Given the description of an element on the screen output the (x, y) to click on. 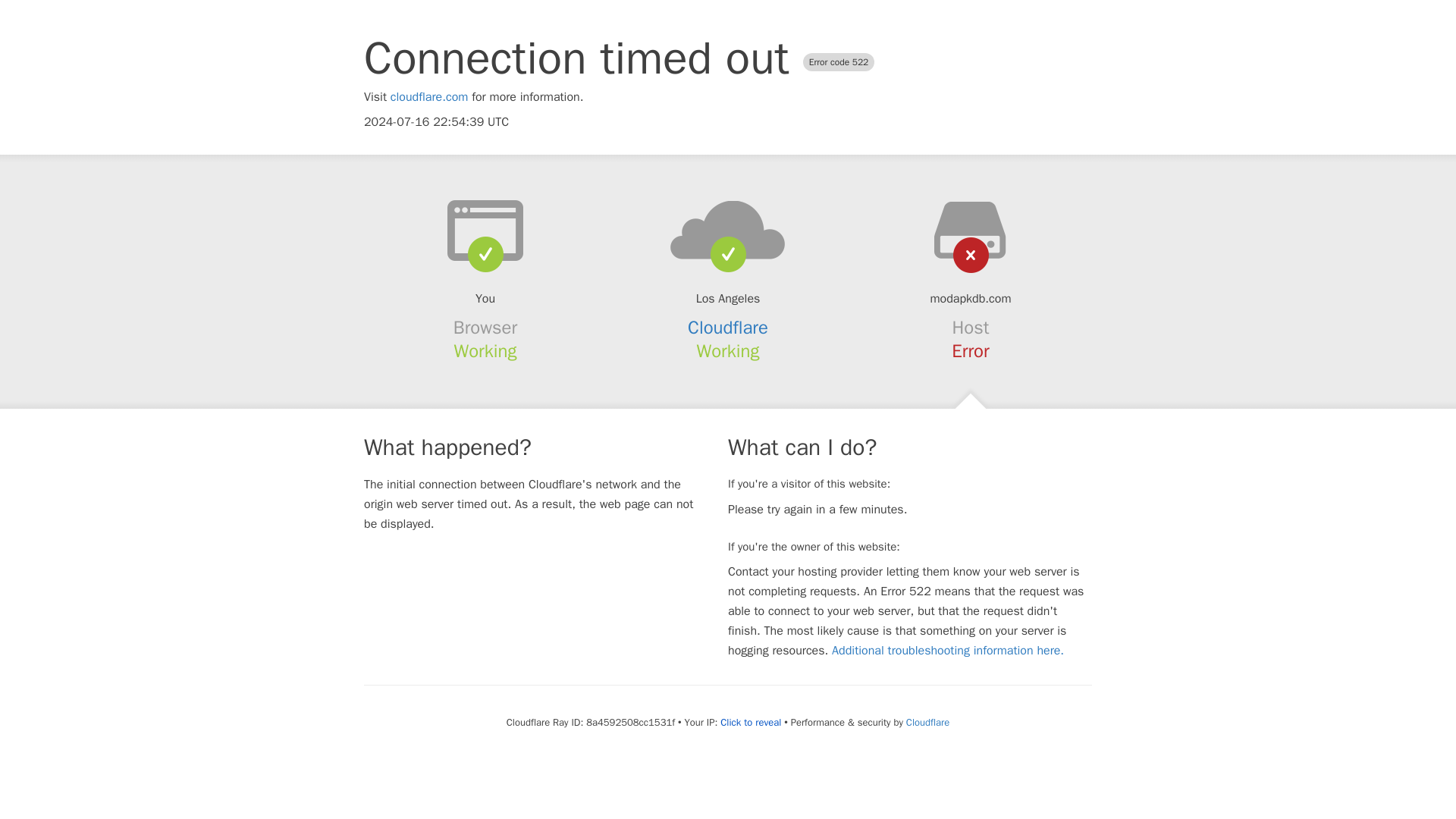
Cloudflare (927, 721)
Additional troubleshooting information here. (947, 650)
cloudflare.com (429, 96)
Click to reveal (750, 722)
Cloudflare (727, 327)
